Given the description of an element on the screen output the (x, y) to click on. 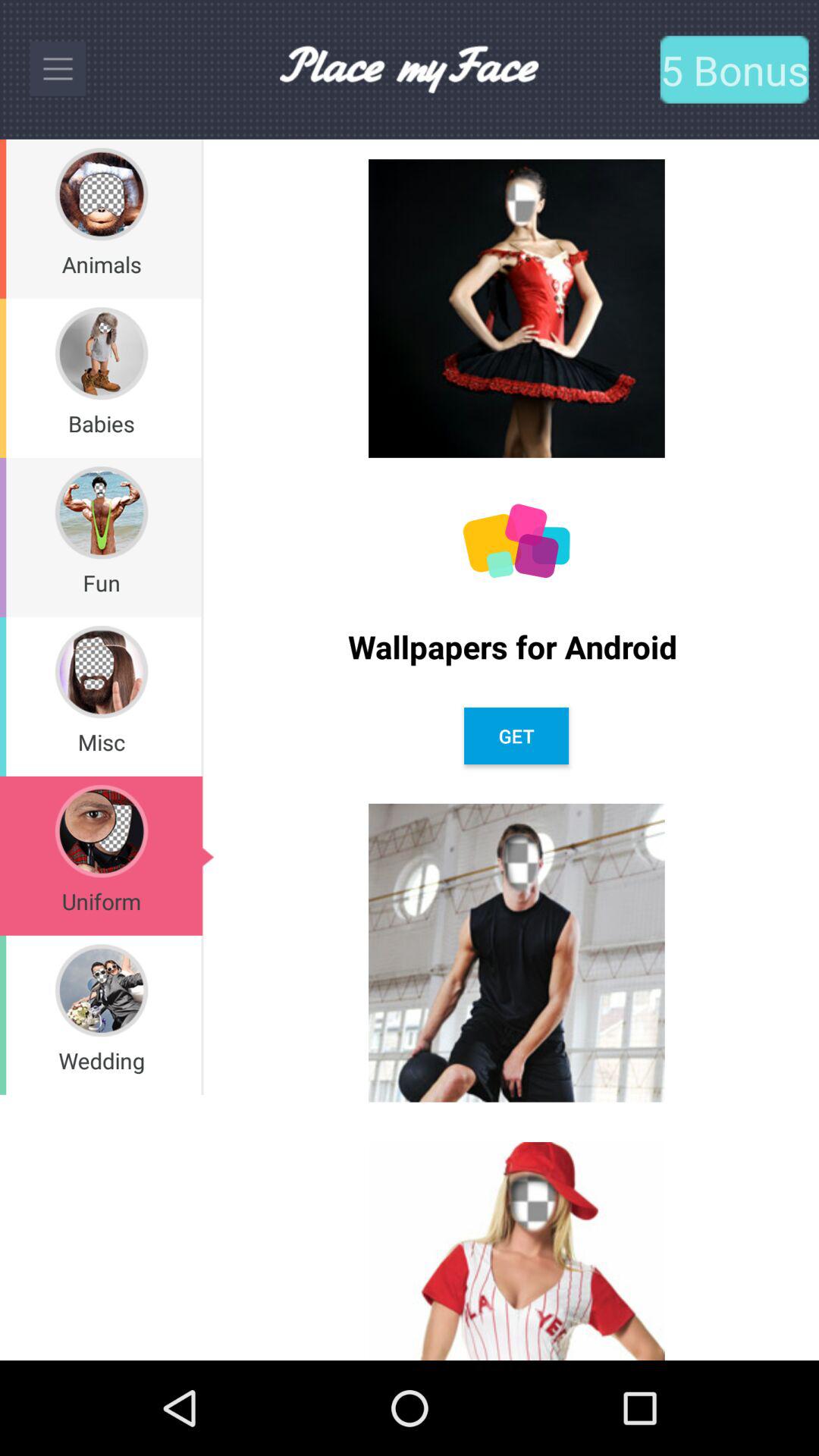
open the icon to the left of wallpapers for android  icon (202, 537)
